Given the description of an element on the screen output the (x, y) to click on. 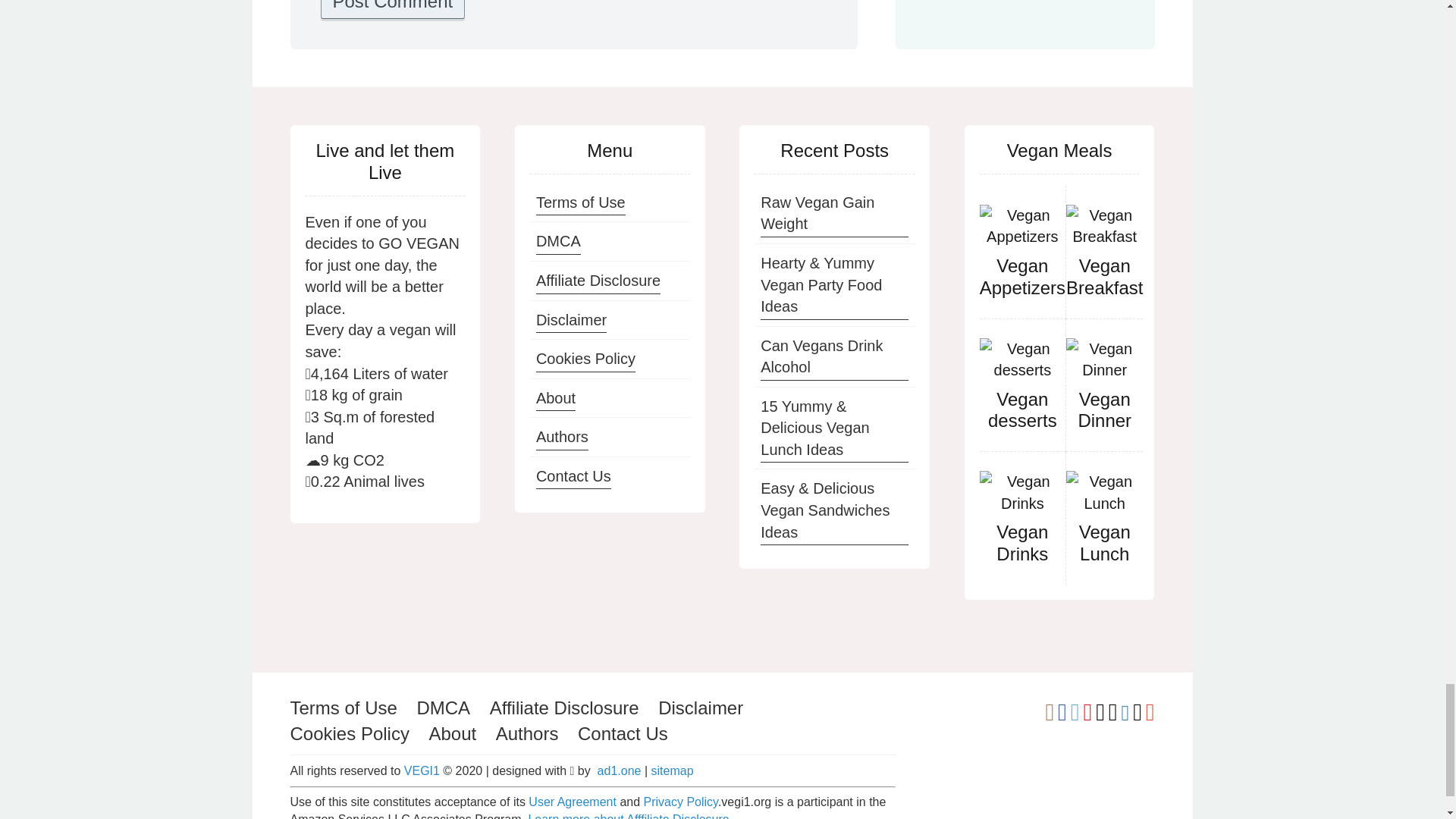
Post Comment (392, 9)
